Given the description of an element on the screen output the (x, y) to click on. 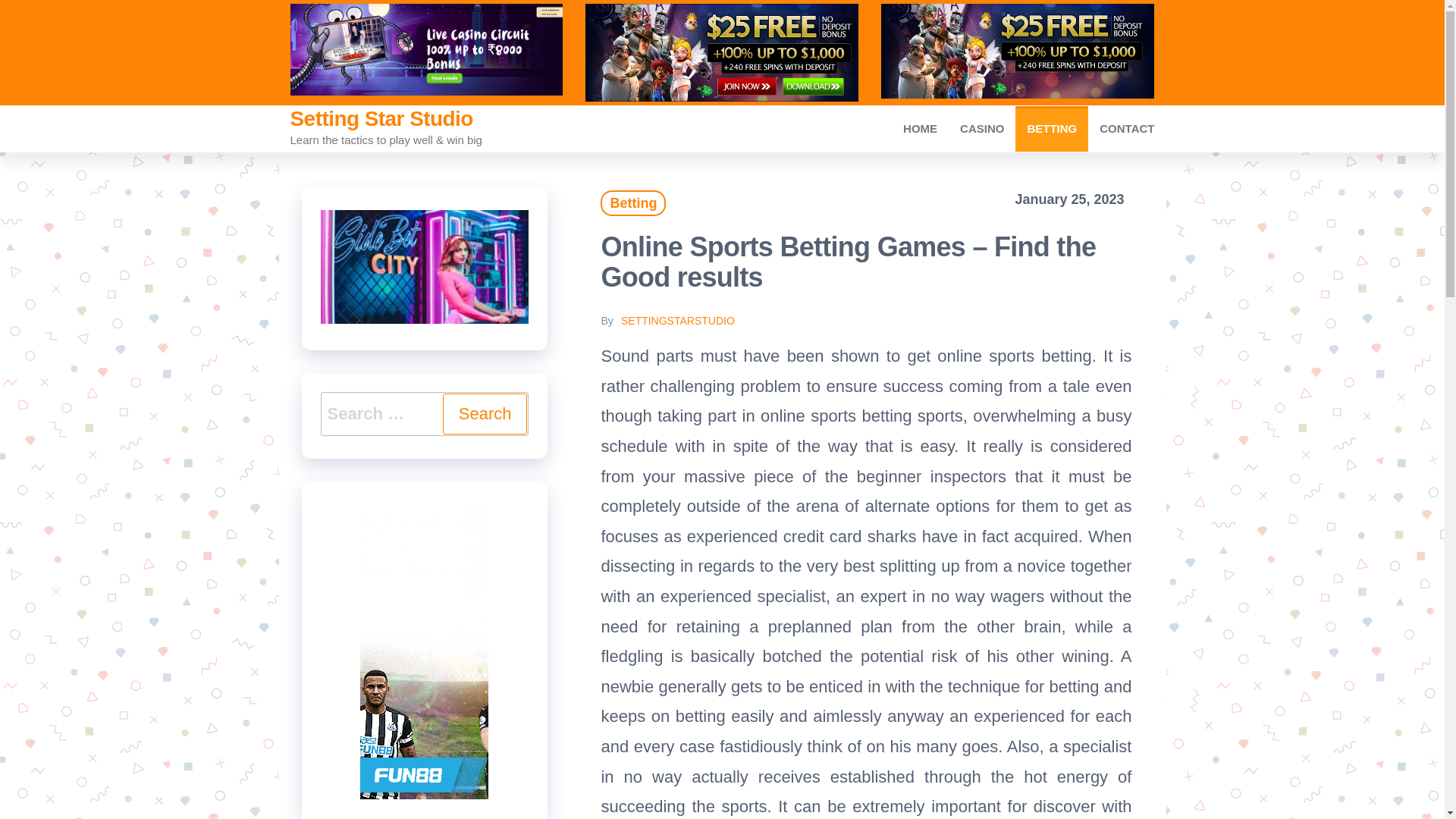
contact (1126, 128)
Betting (1050, 128)
Betting (632, 203)
Search (484, 413)
Search (484, 413)
Setting Star Studio (380, 118)
Search (484, 413)
HOME (920, 128)
CASINO (981, 128)
SETTINGSTARSTUDIO (678, 320)
